Given the description of an element on the screen output the (x, y) to click on. 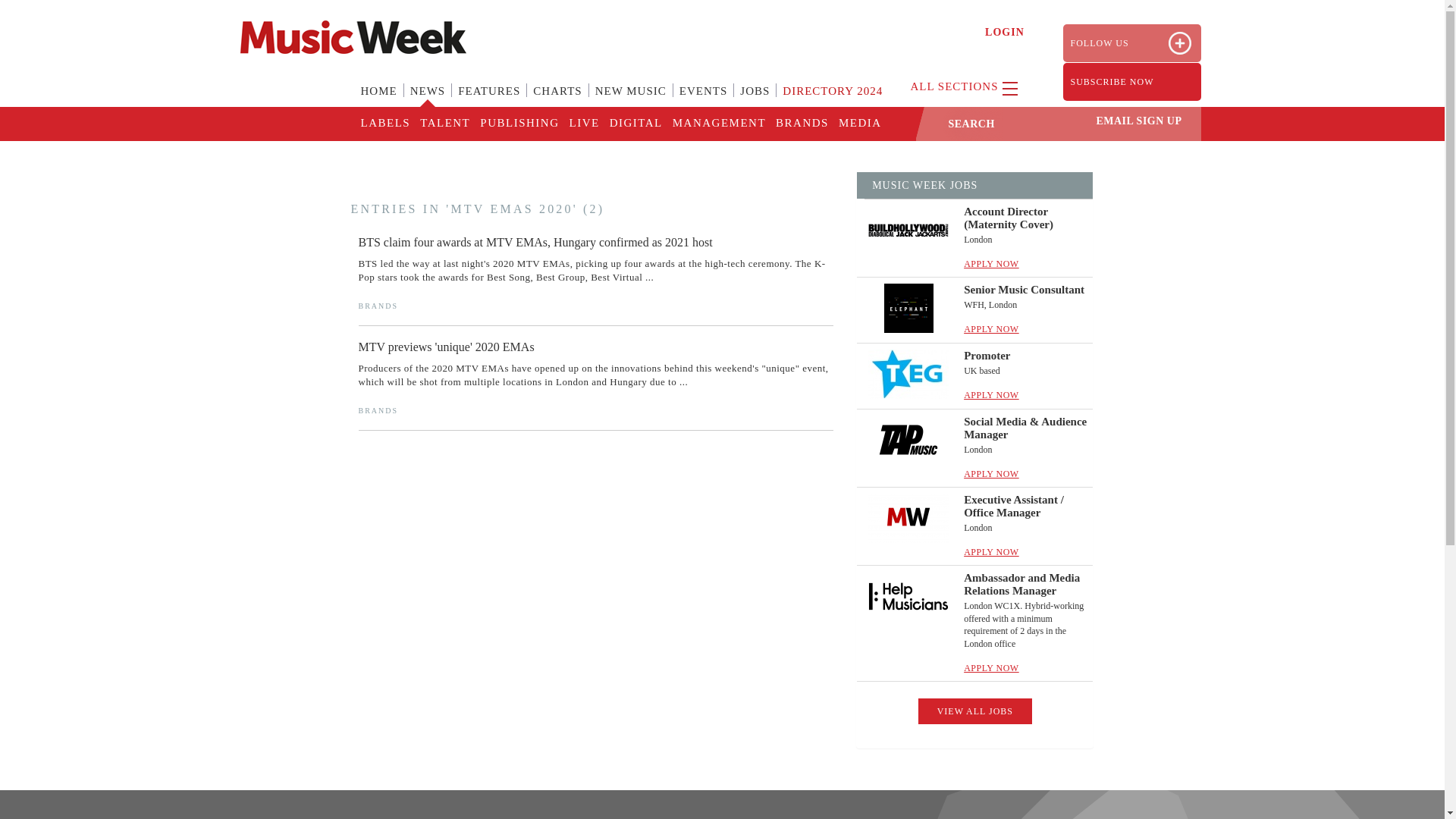
HOME (379, 100)
MEDIA (858, 123)
NEW MUSIC (630, 100)
DIGITAL (635, 123)
MANAGEMENT (718, 123)
EVENTS (702, 100)
FEATURES (488, 100)
CHARTS (557, 100)
PUBLISHING (518, 123)
LOGIN (1005, 31)
NEWS (427, 100)
TALENT (443, 123)
LIVE (582, 123)
BRANDS (801, 123)
LABELS (384, 123)
